Given the description of an element on the screen output the (x, y) to click on. 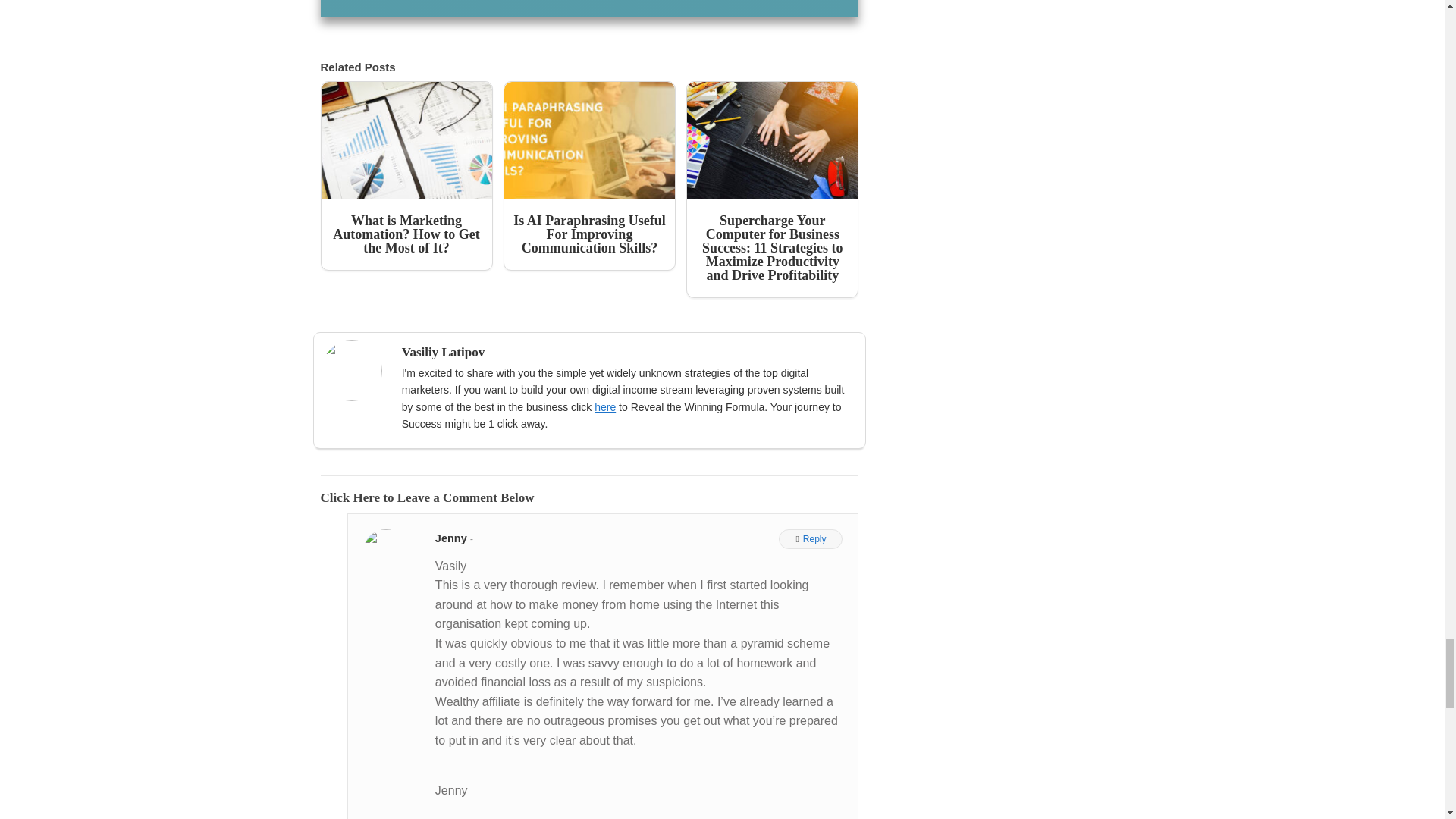
Jenny (452, 538)
here (604, 407)
What is Marketing Automation? How to Get the Most of It? (406, 176)
